Given the description of an element on the screen output the (x, y) to click on. 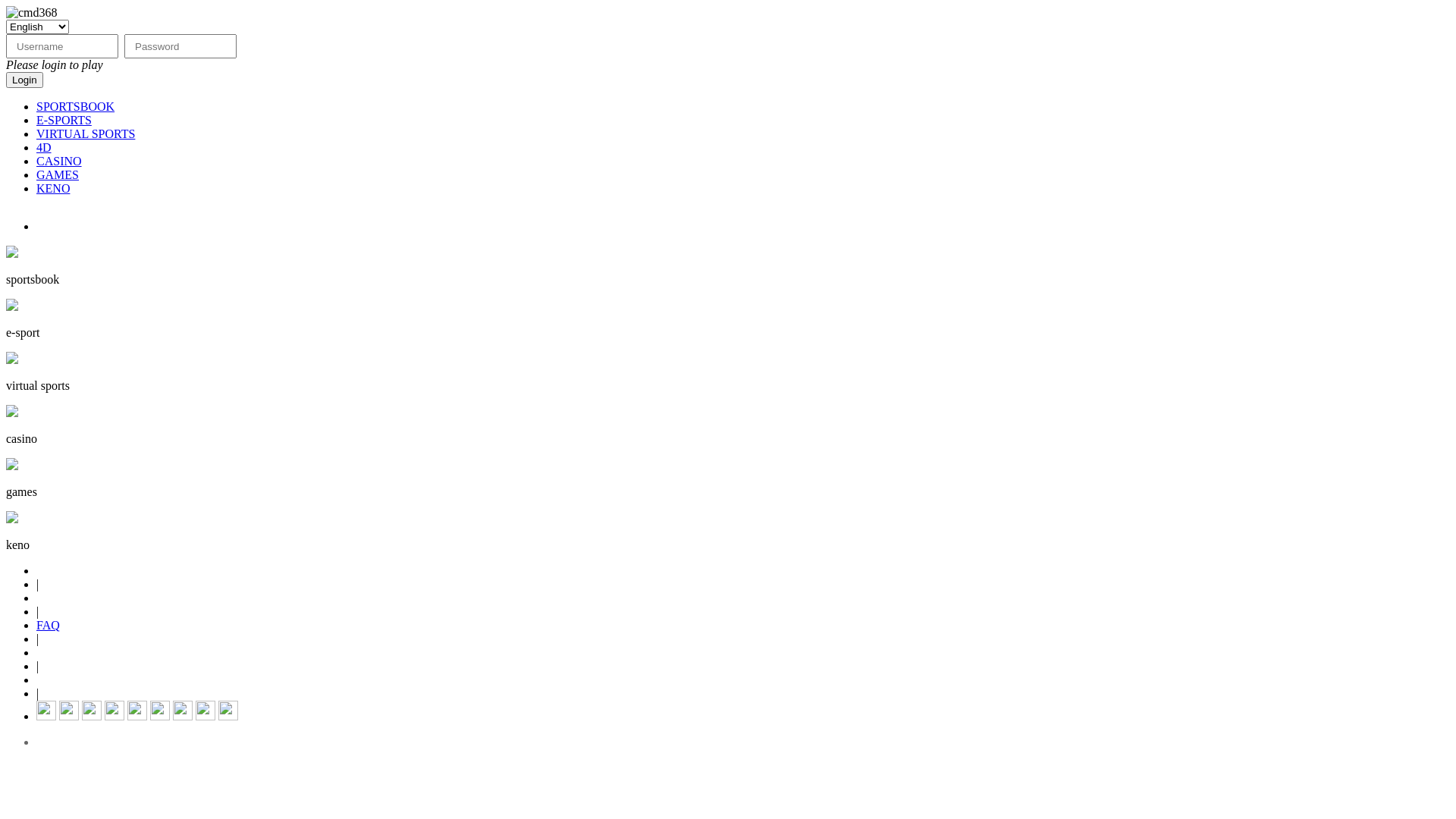
CASINO Element type: text (58, 160)
4D Element type: text (43, 147)
GAMES Element type: text (57, 174)
VIRTUAL SPORTS Element type: text (85, 133)
Login Element type: text (24, 79)
FAQ Element type: text (47, 624)
SPORTSBOOK Element type: text (75, 106)
KENO Element type: text (52, 188)
E-SPORTS Element type: text (63, 119)
